Given the description of an element on the screen output the (x, y) to click on. 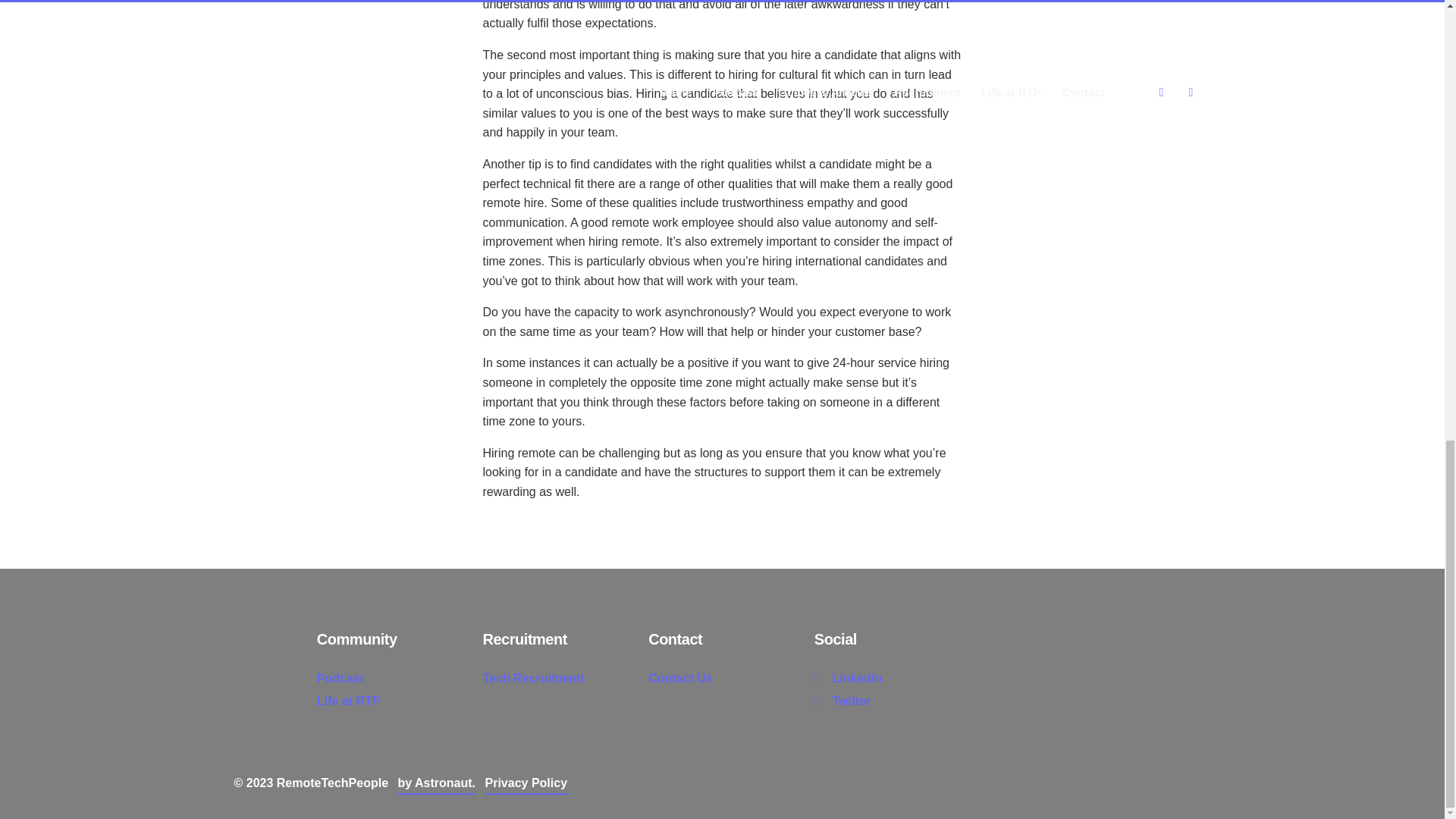
Contact Us (679, 676)
Twitter (841, 700)
Privacy Policy (525, 782)
Podcast (340, 676)
Life at RTP (348, 700)
Linkedin (847, 676)
by Astronaut. (436, 782)
Tech Recruitment (534, 676)
